Given the description of an element on the screen output the (x, y) to click on. 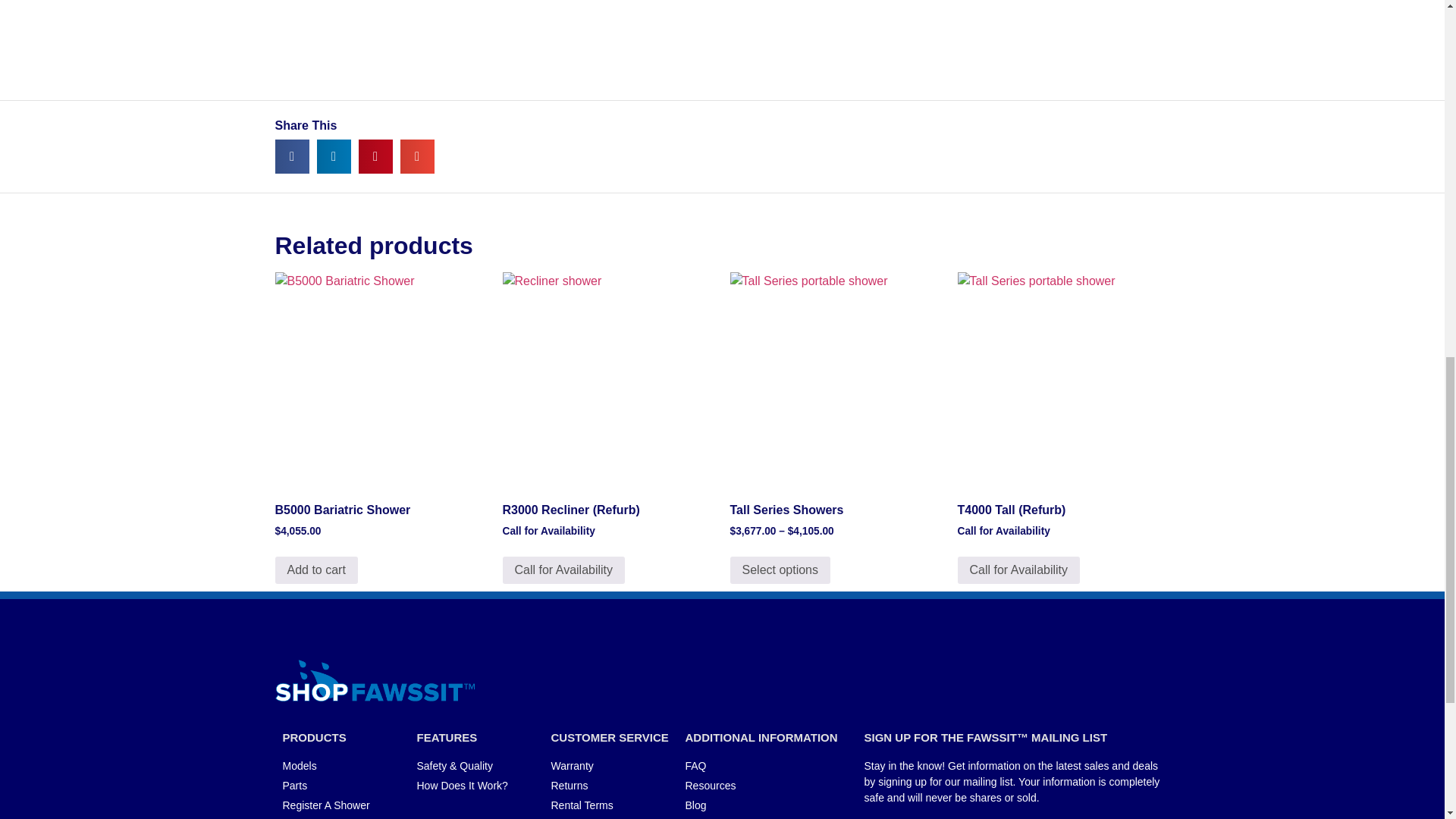
Add to cart (315, 569)
